Given the description of an element on the screen output the (x, y) to click on. 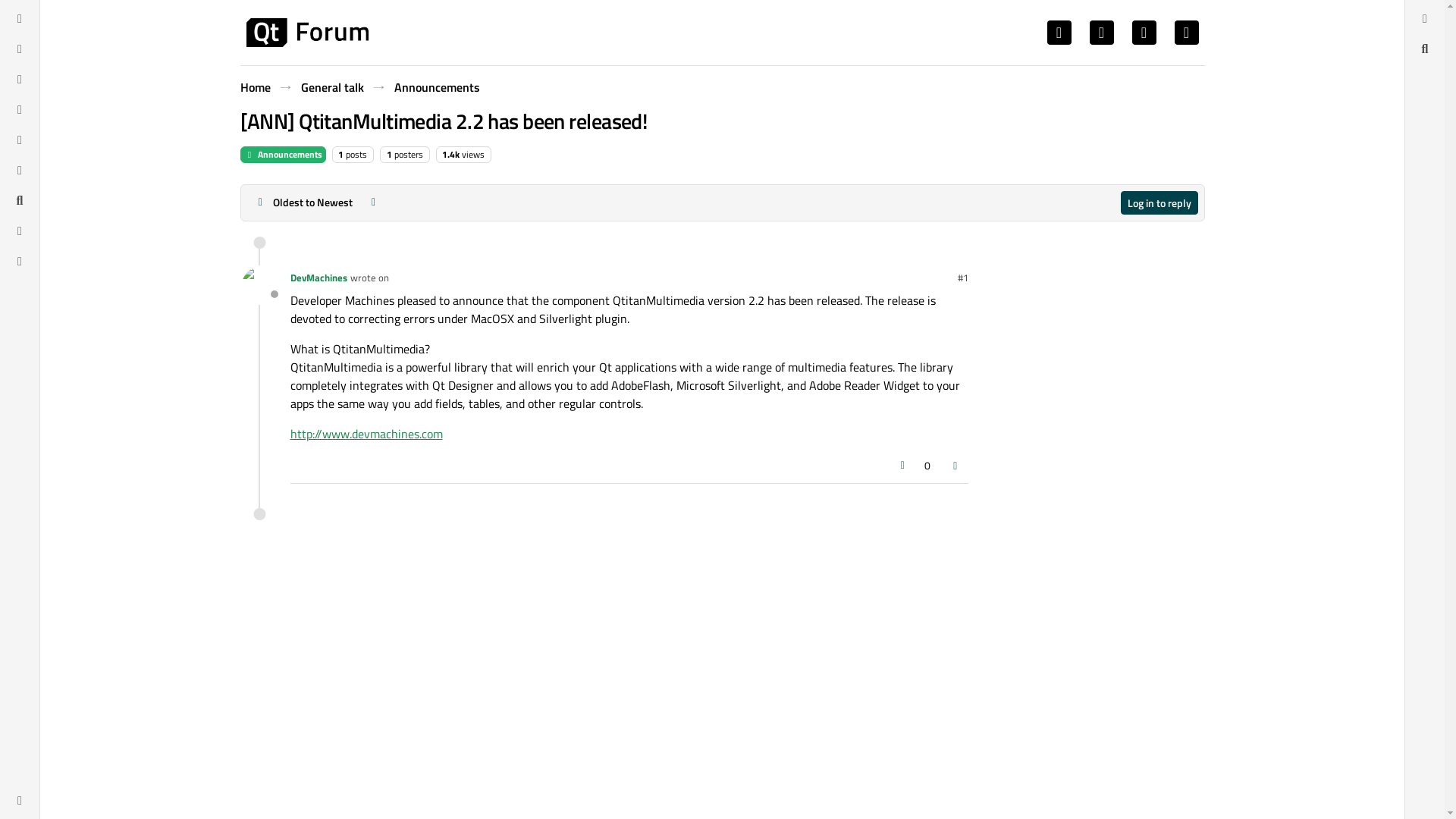
Brand Logo (307, 32)
Home (254, 86)
Unsolved (19, 260)
Log in to reply (1159, 202)
Announcements (437, 86)
Tags (19, 78)
Popular (19, 109)
Announcements (282, 154)
Search (19, 200)
General talk (330, 86)
Groups (19, 169)
DevMachines (317, 277)
Categories (19, 17)
Recent (19, 48)
DevMachines (259, 284)
